Given the description of an element on the screen output the (x, y) to click on. 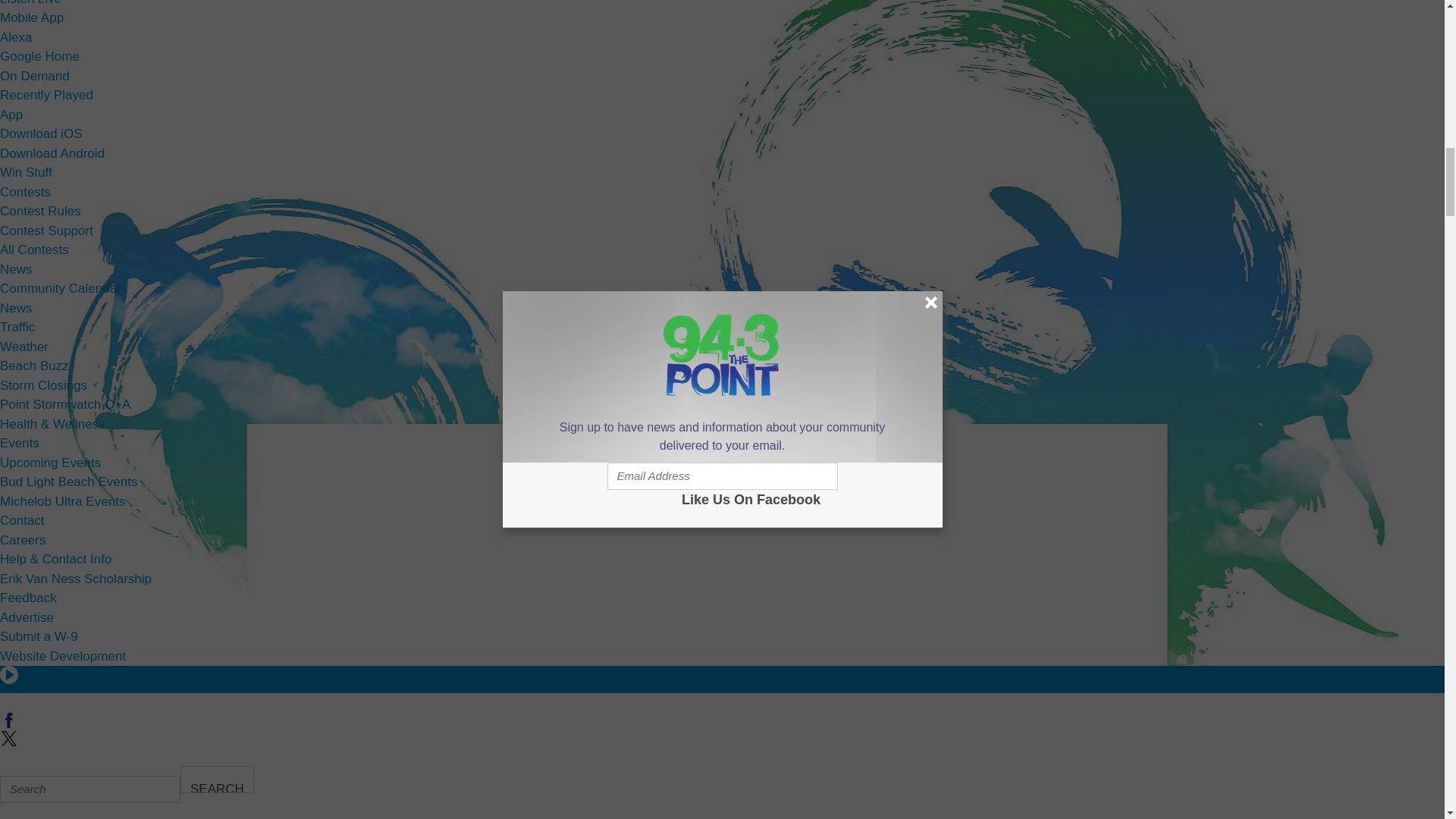
SEARCH (216, 779)
SEARCH (216, 779)
